Given the description of an element on the screen output the (x, y) to click on. 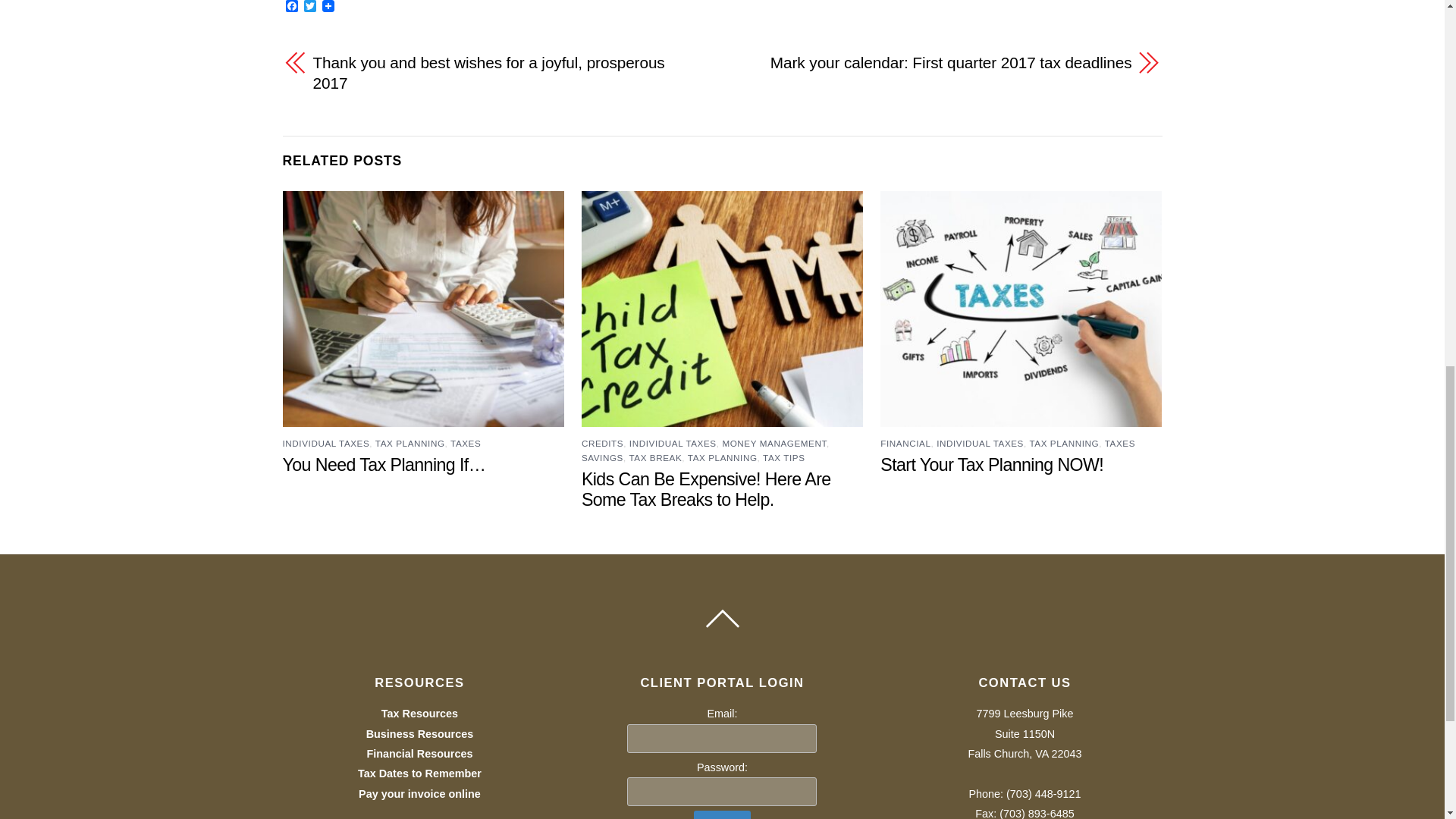
Kids Can Be Expensive! Here Are Some Tax Breaks to Help. (705, 489)
Log In (722, 814)
Twitter (308, 7)
Facebook (290, 7)
Start Your Tax Planning NOW! (991, 465)
